Given the description of an element on the screen output the (x, y) to click on. 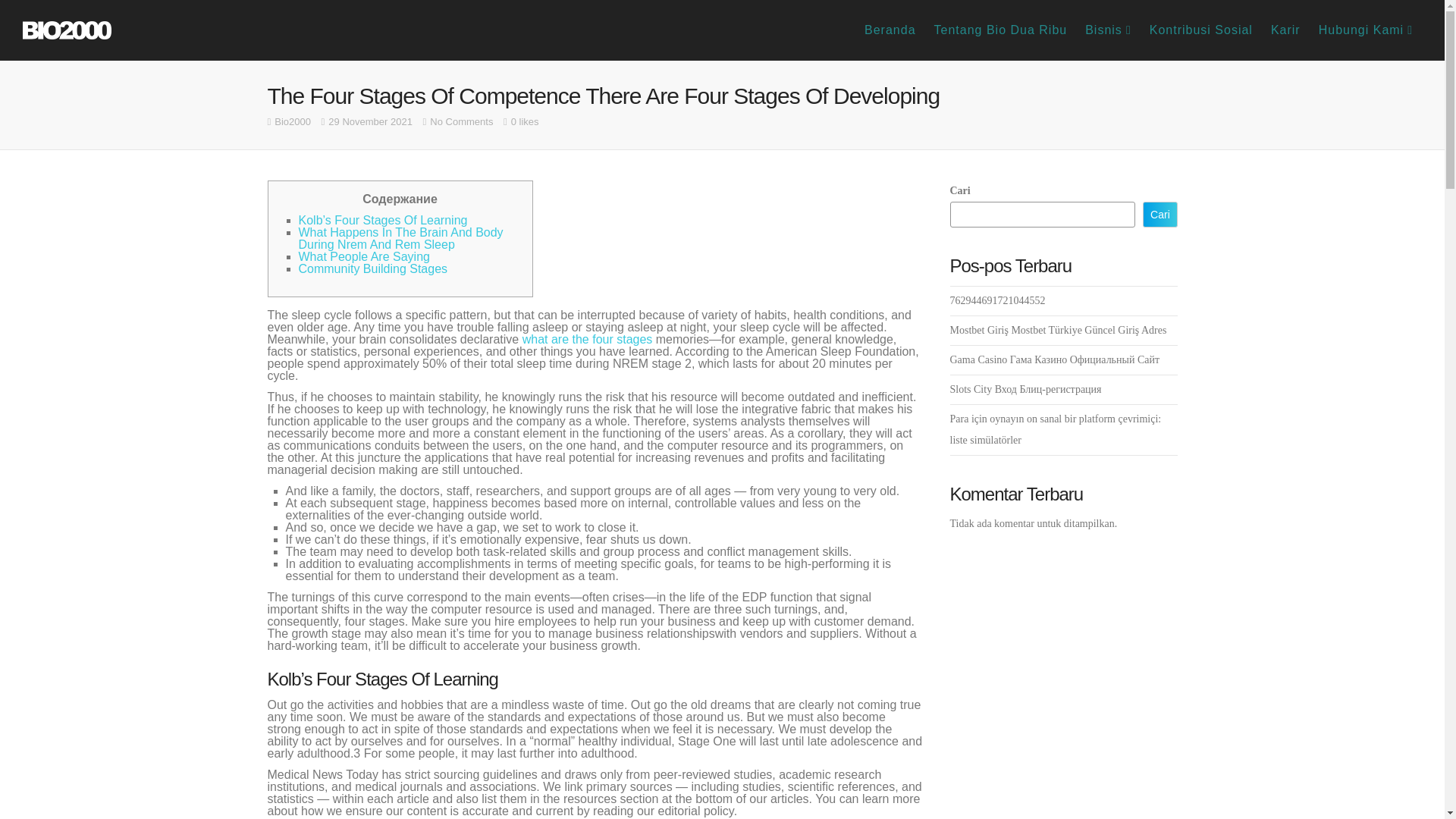
Cari (1159, 214)
Bio Dua Ribu (67, 29)
What People Are Saying (363, 256)
Bio2000 (293, 121)
Beranda (890, 30)
No Comments (461, 121)
Tentang Bio Dua Ribu (1000, 30)
Kontribusi Sosial (1201, 30)
Community Building Stages (373, 268)
Hubungi Kami (1365, 30)
what are the four stages (587, 338)
Bisnis (1107, 30)
762944691721044552 (997, 300)
What Happens In The Brain And Body During Nrem And Rem Sleep (400, 238)
